Given the description of an element on the screen output the (x, y) to click on. 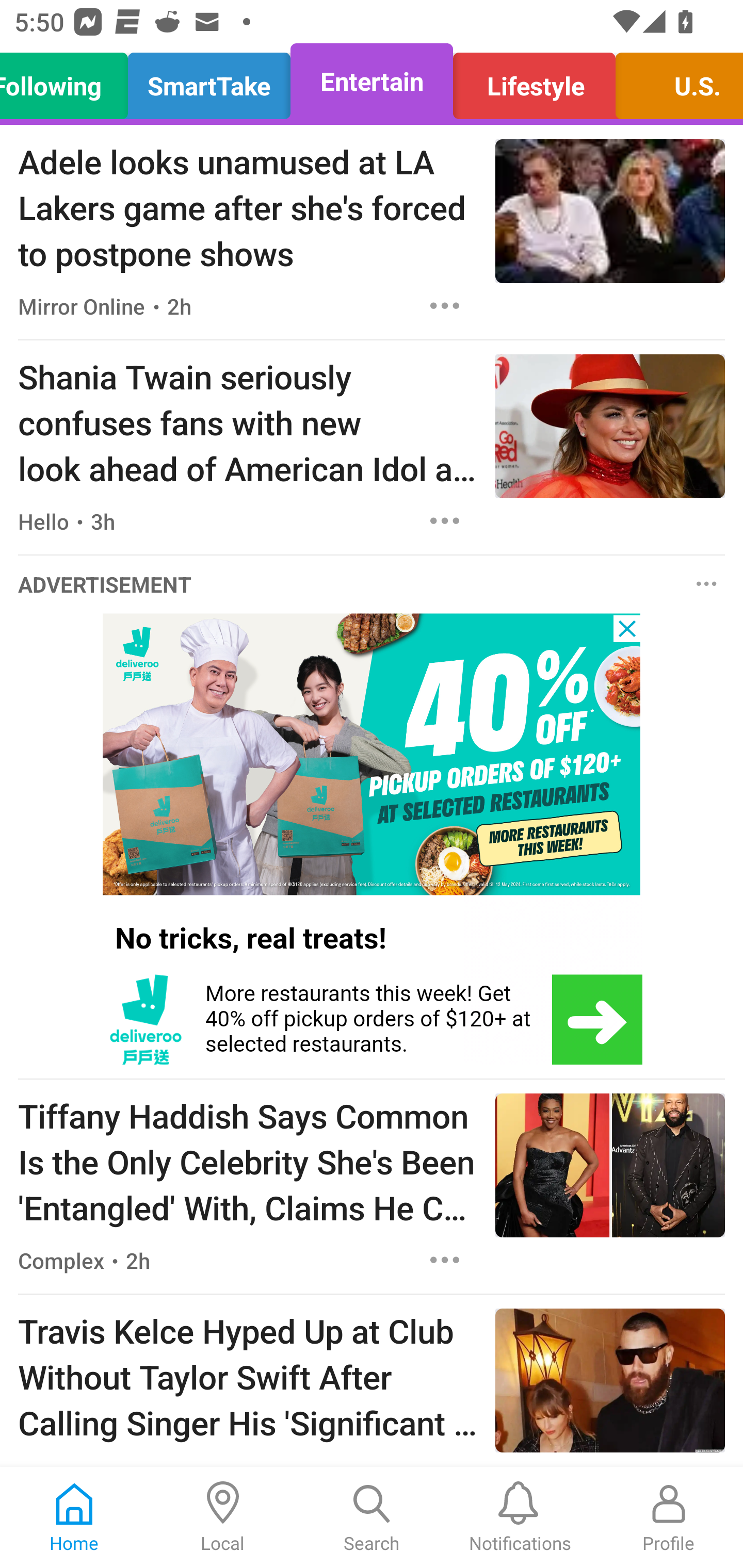
Following (69, 81)
SmartTake (209, 81)
Entertain (371, 81)
Lifestyle (534, 81)
U.S. (673, 81)
Options (444, 305)
Options (444, 520)
Options (706, 584)
Options (444, 1259)
Local (222, 1517)
Search (371, 1517)
Notifications (519, 1517)
Profile (668, 1517)
